Given the description of an element on the screen output the (x, y) to click on. 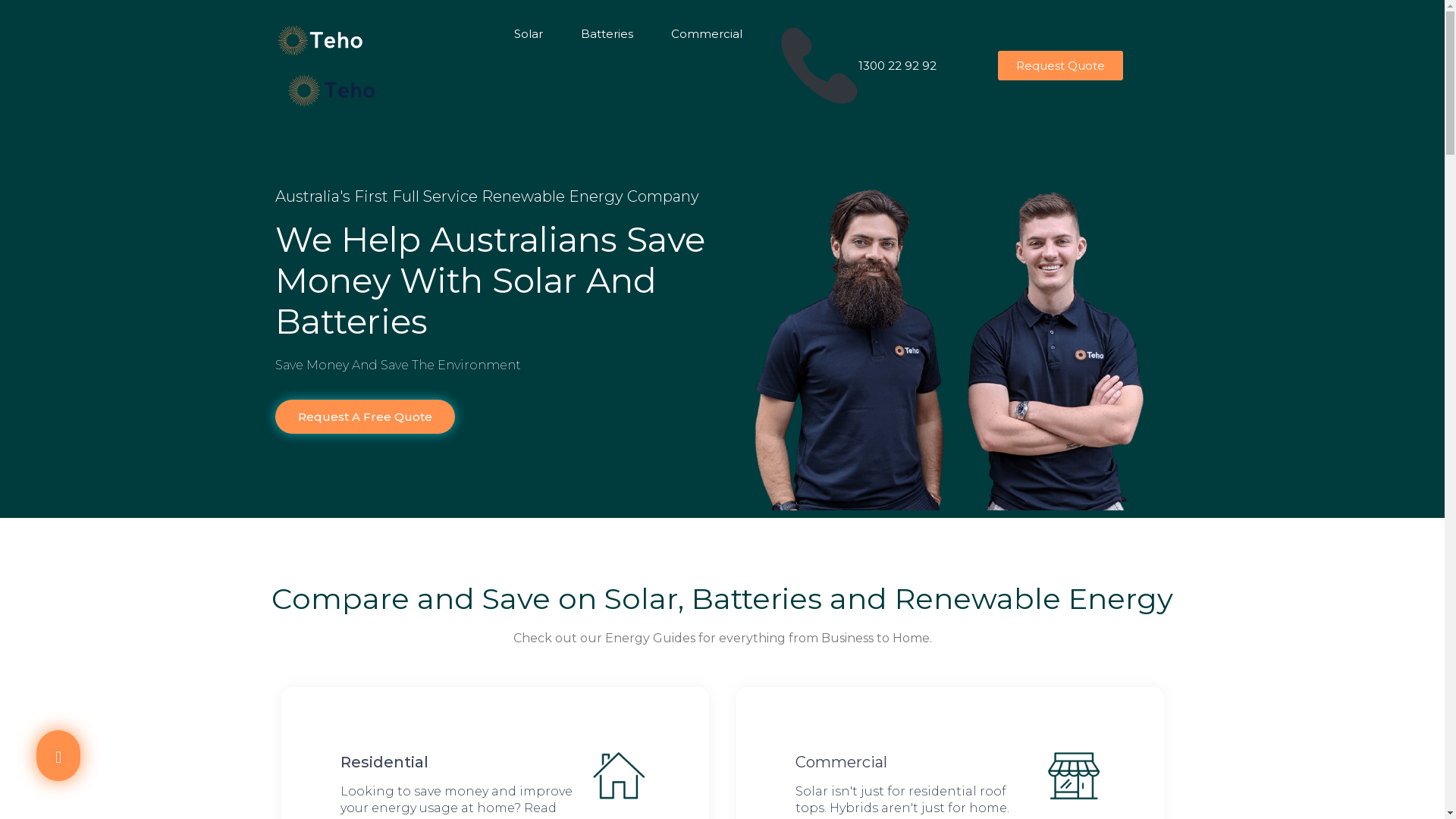
Request A Free Quote Element type: text (364, 416)
Batteries Element type: text (606, 34)
1300 22 92 92 Element type: text (819, 65)
Commercial Element type: text (706, 34)
Request Quote Element type: text (1060, 65)
Solar Element type: text (528, 34)
